Given the description of an element on the screen output the (x, y) to click on. 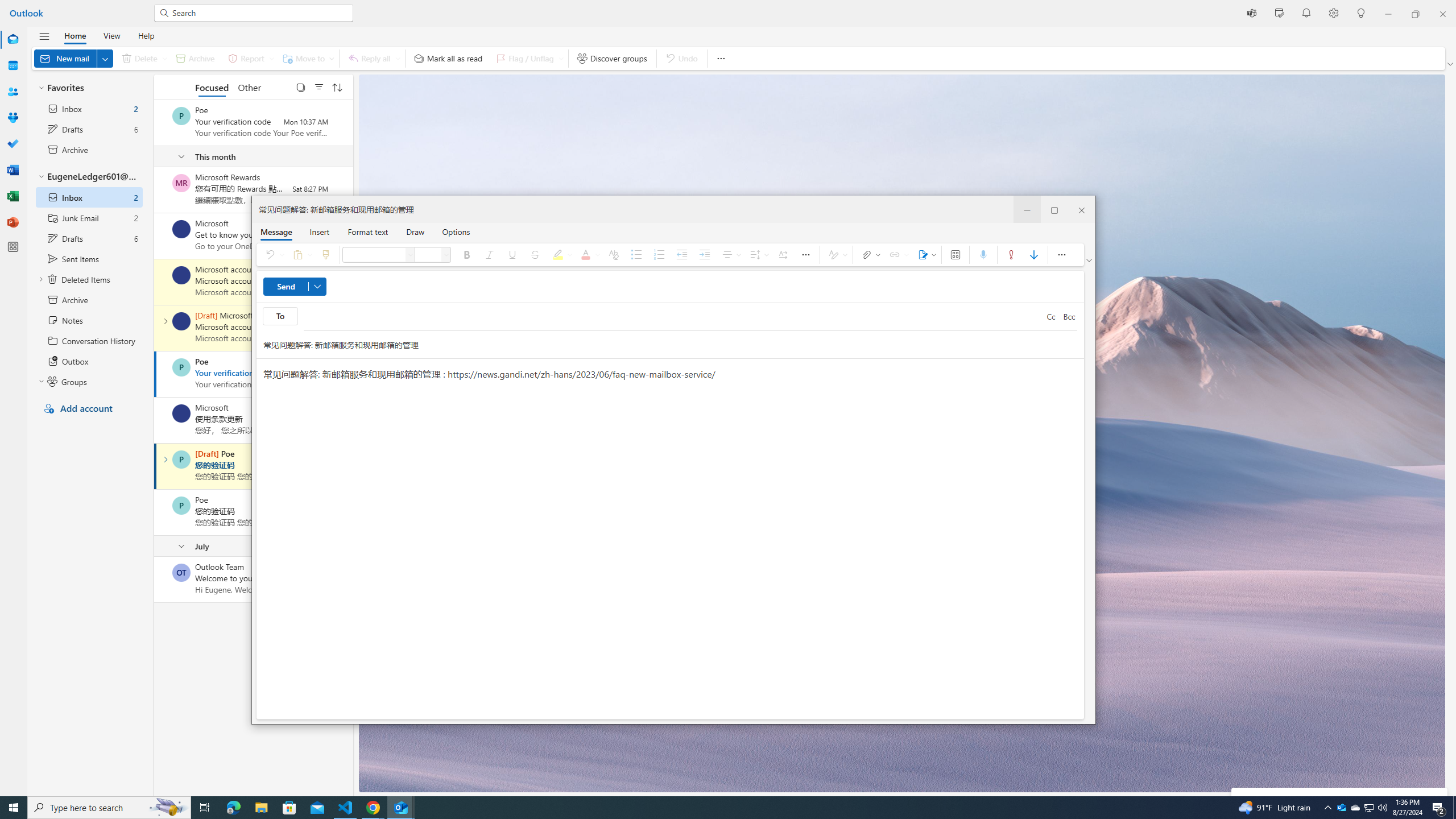
Message body, press Alt+F10 to exit (670, 538)
Align (730, 254)
Outlook (new) - 2 running windows (400, 807)
Start (13, 807)
Report (248, 58)
Search for email, meetings, files and more. (258, 12)
Show desktop (1454, 807)
Send (294, 286)
Undo (272, 254)
Underline (512, 254)
Text highlight color (560, 254)
Microsoft Edge (233, 807)
Action Center, 2 new notifications (1439, 807)
